Given the description of an element on the screen output the (x, y) to click on. 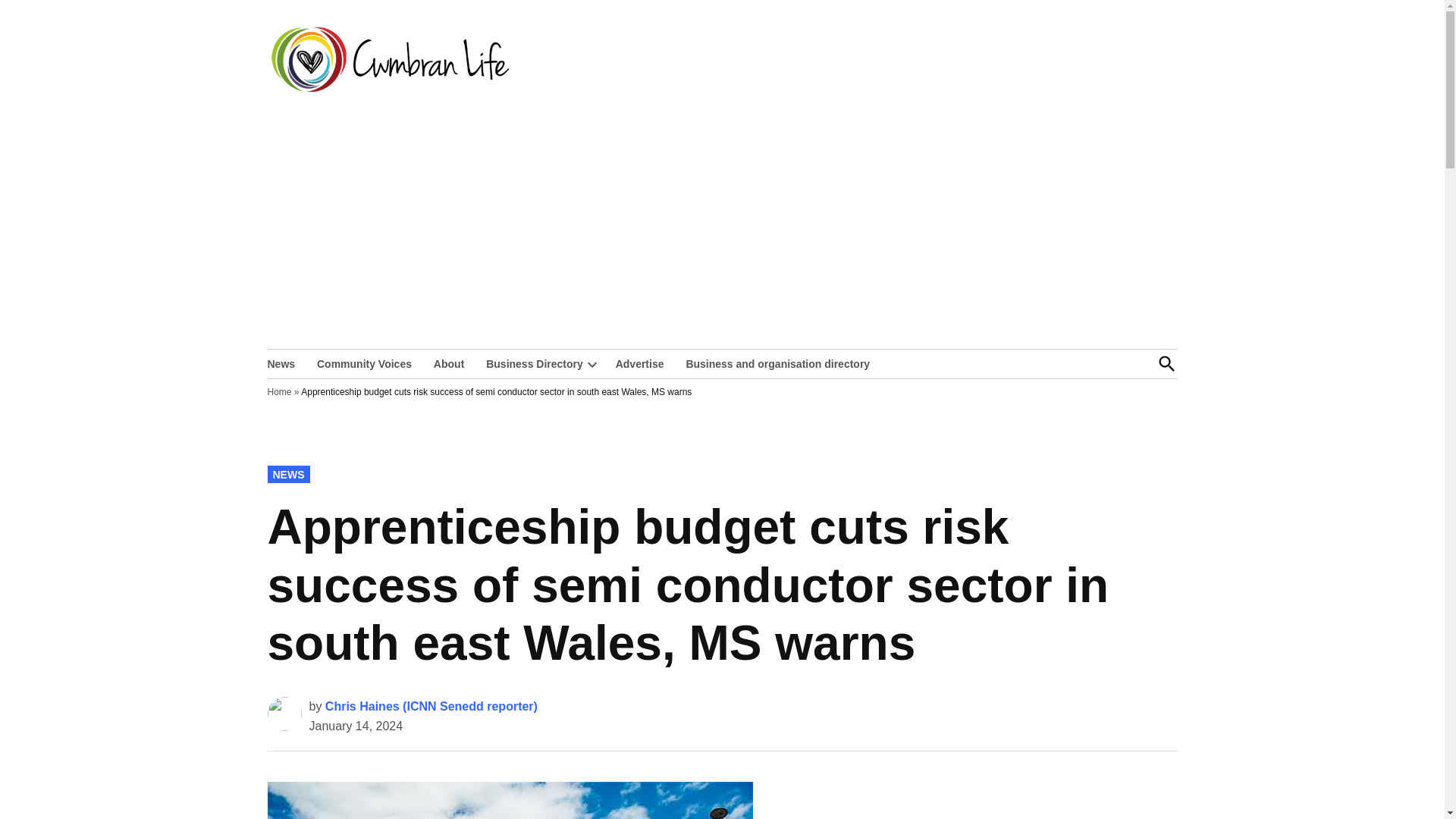
NEWS (287, 474)
Home (278, 391)
Cwmbranlife (573, 70)
Open dropdown menu (592, 364)
Community Voices (363, 362)
Business and organisation directory (777, 362)
About (448, 362)
Advertise (639, 362)
Business and organisation directory (777, 362)
News (284, 362)
